Given the description of an element on the screen output the (x, y) to click on. 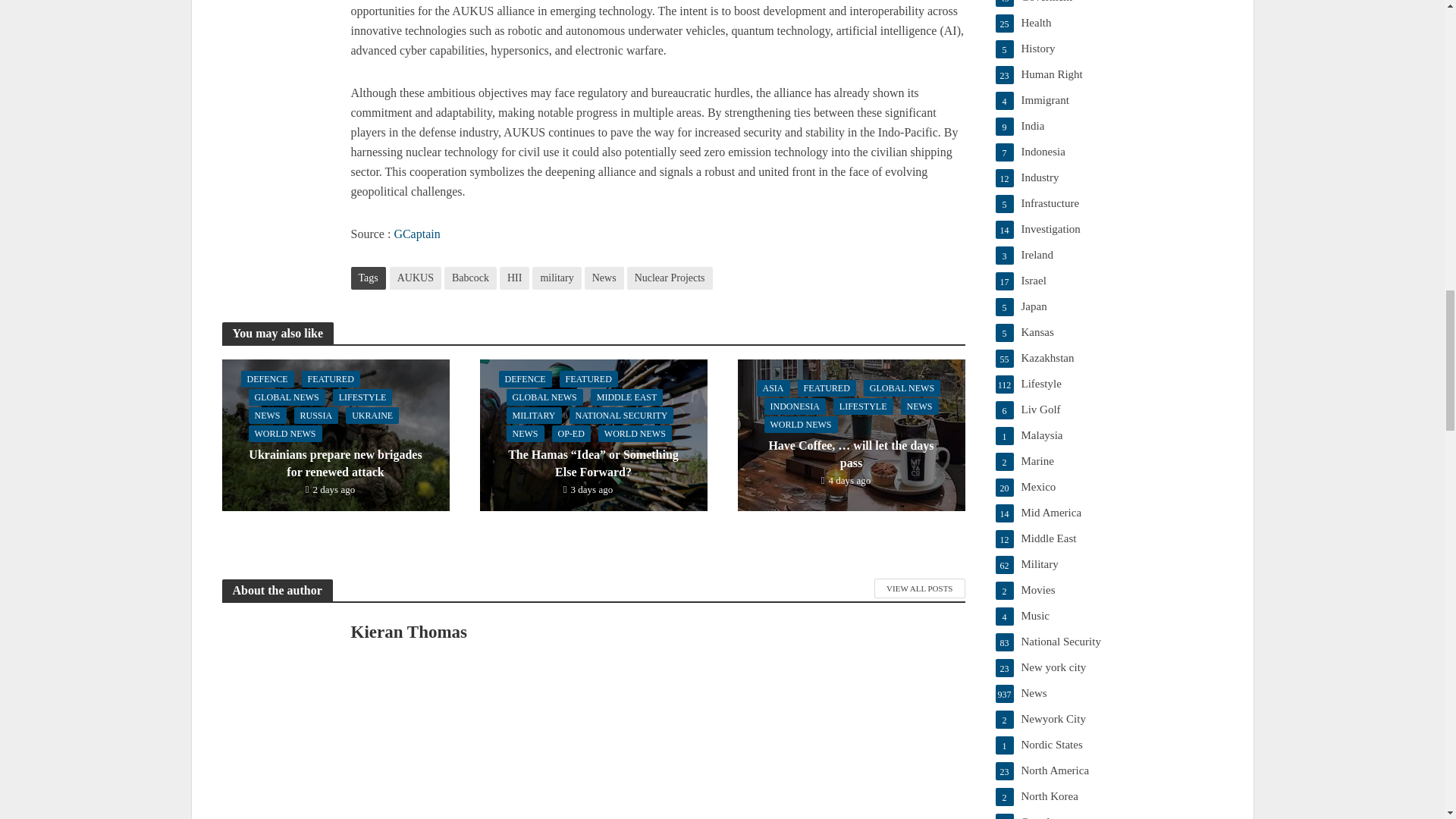
Ukrainians prepare new brigades for renewed attack (334, 432)
